Given the description of an element on the screen output the (x, y) to click on. 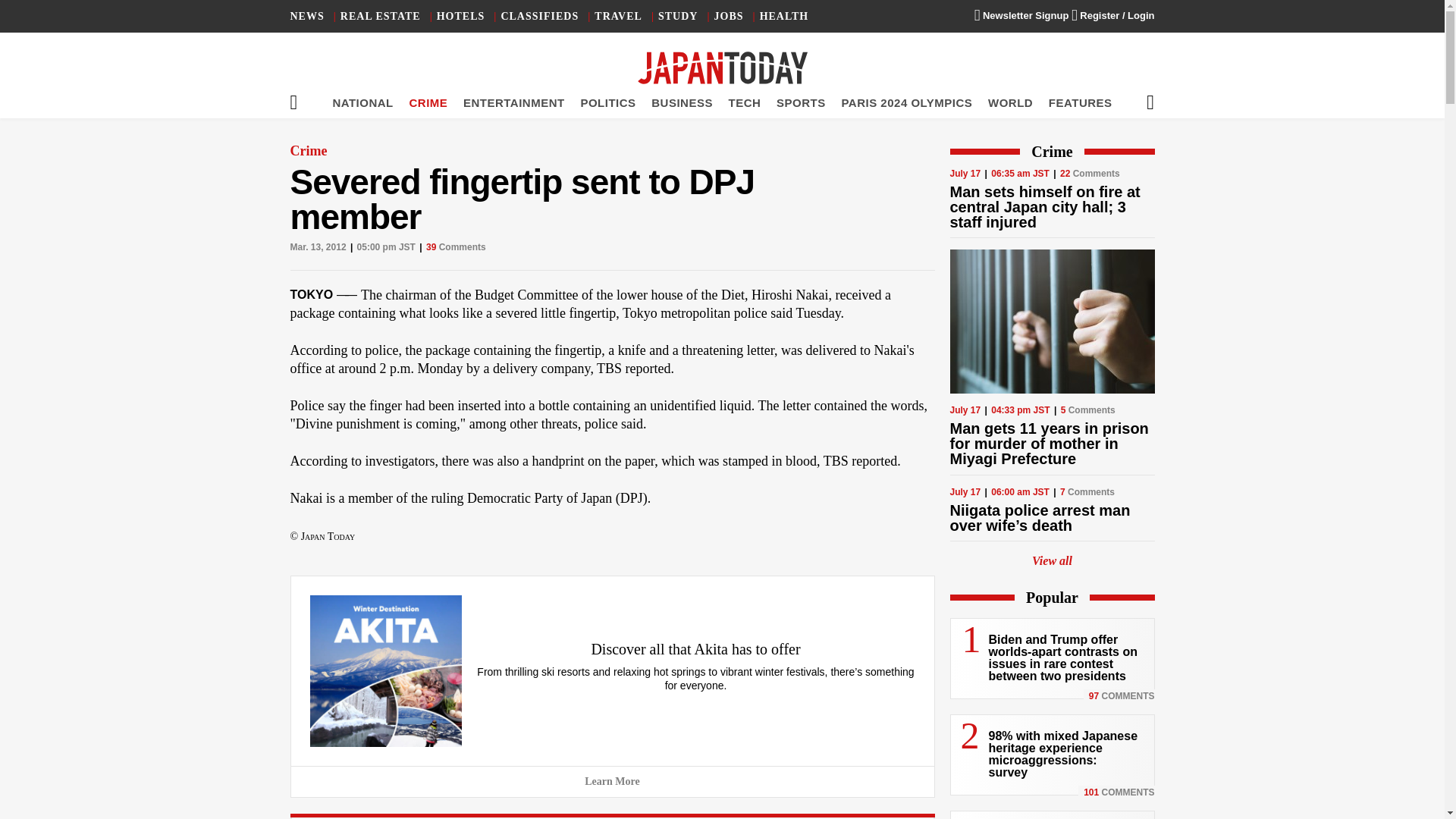
WORLD (1010, 102)
Japan Today (721, 67)
PARIS 2024 OLYMPICS (906, 102)
JOBS (729, 16)
REAL ESTATE (380, 16)
FEATURES (1080, 102)
TECH (745, 102)
HEALTH (784, 16)
Japan Today (721, 67)
HOTELS (460, 16)
SPORTS (800, 102)
BUSINESS (681, 102)
